Given the description of an element on the screen output the (x, y) to click on. 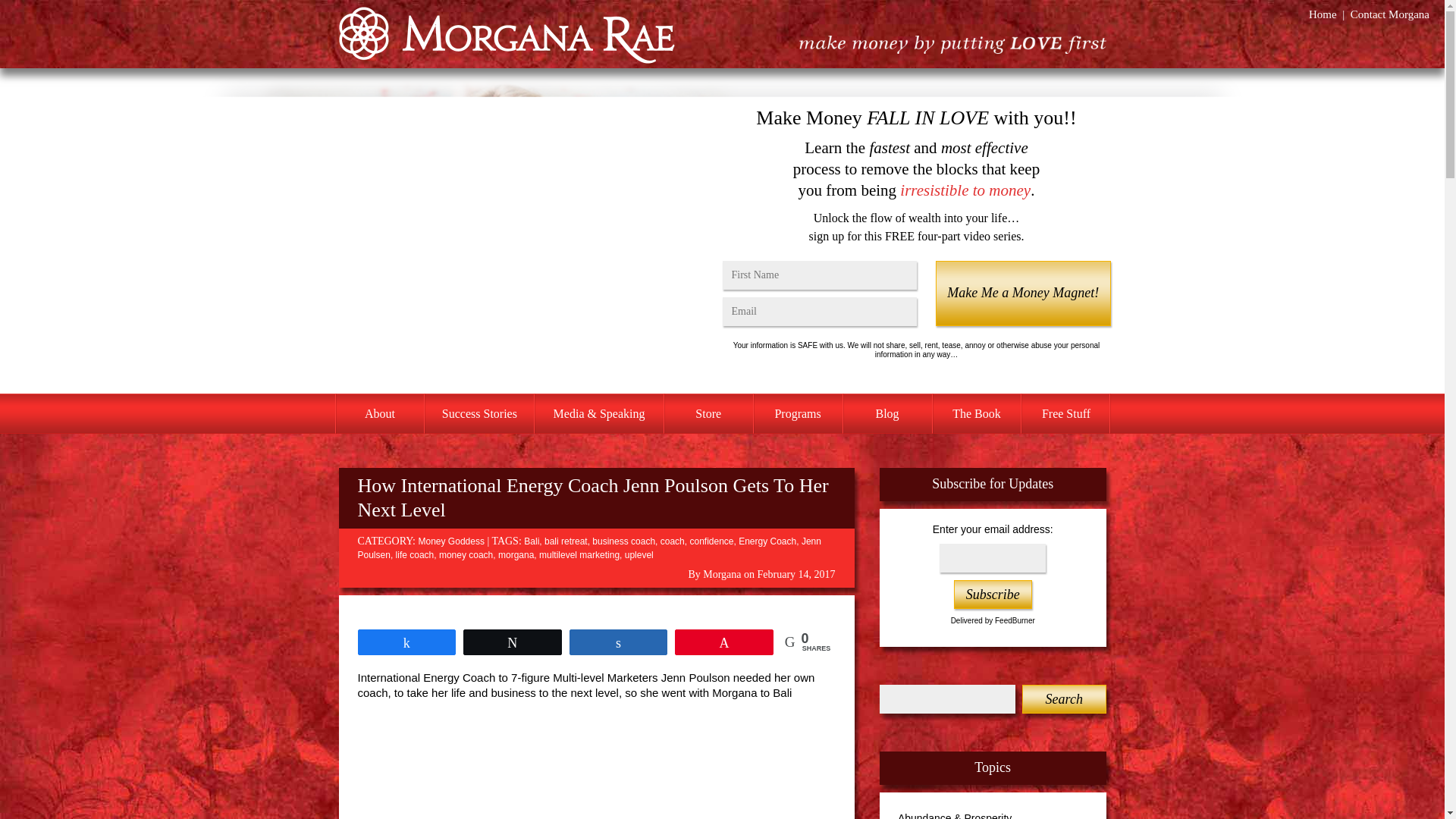
Search (1063, 698)
Store (707, 413)
Subscribe (992, 594)
The Book (977, 413)
Home (1322, 14)
Make Me a Money Magnet! (1022, 293)
Free Stuff (1065, 413)
Programs (798, 413)
Contact Morgana (1390, 14)
Success Stories (479, 413)
